Given the description of an element on the screen output the (x, y) to click on. 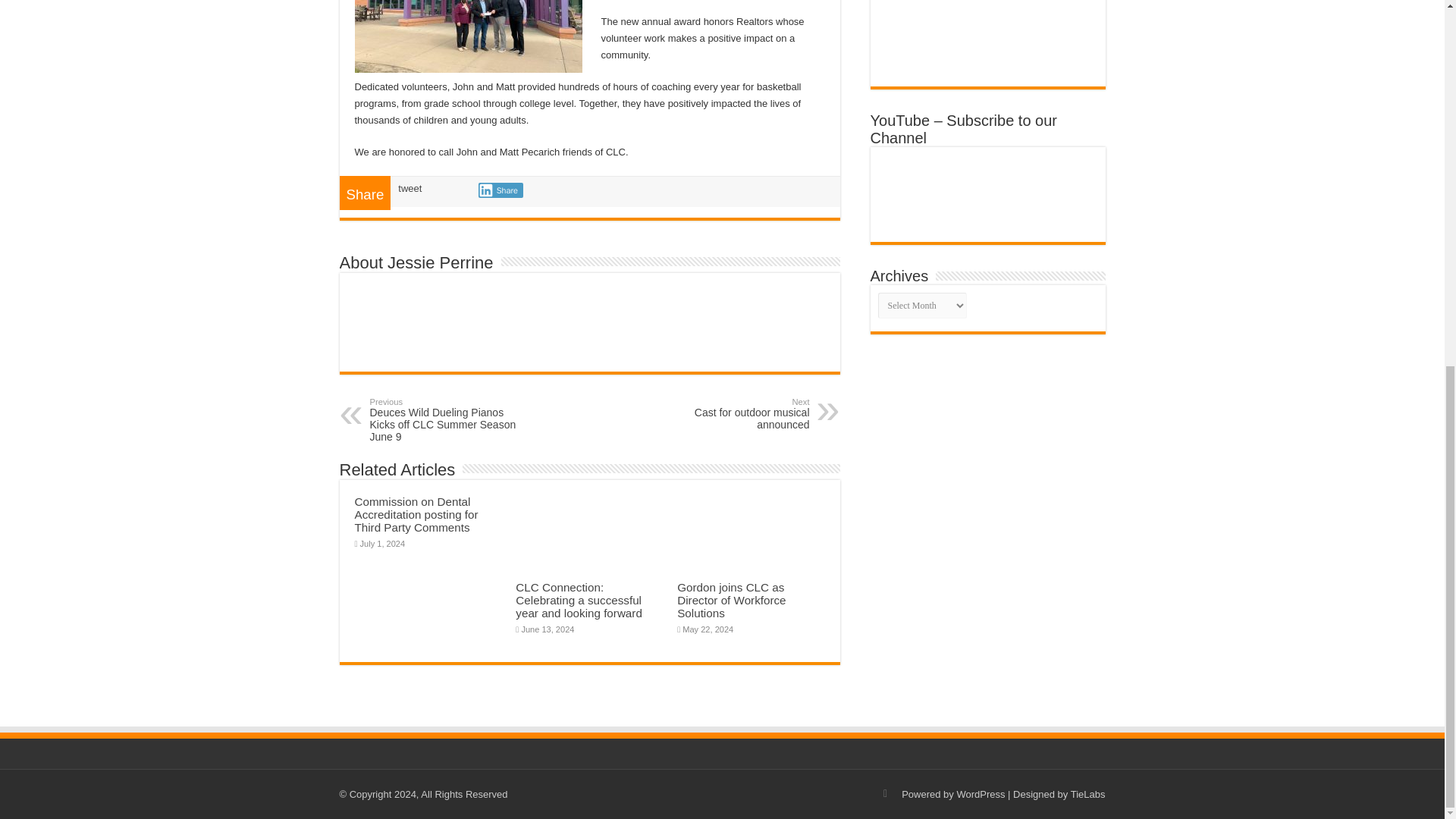
Share (500, 190)
Scroll To Top (1421, 222)
tweet (409, 188)
Gordon joins CLC as Director of Workforce Solutions  (731, 413)
